Given the description of an element on the screen output the (x, y) to click on. 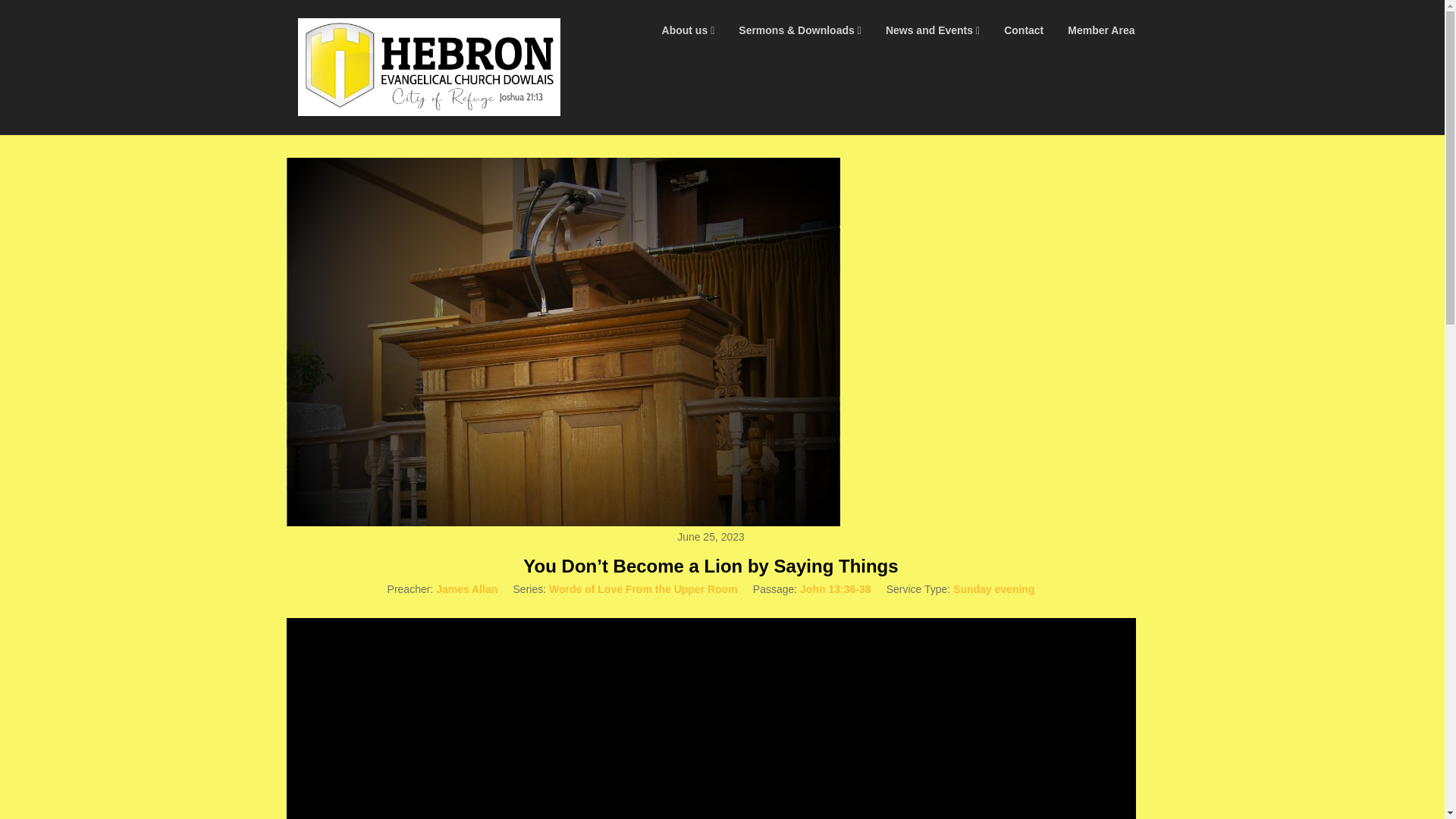
About us (687, 30)
Words of Love From the Upper Room (643, 589)
John 13:36-38 (834, 589)
Sunday evening (993, 589)
Contact (1023, 30)
James Allan (466, 589)
News and Events (932, 30)
Member Area (1101, 30)
